Given the description of an element on the screen output the (x, y) to click on. 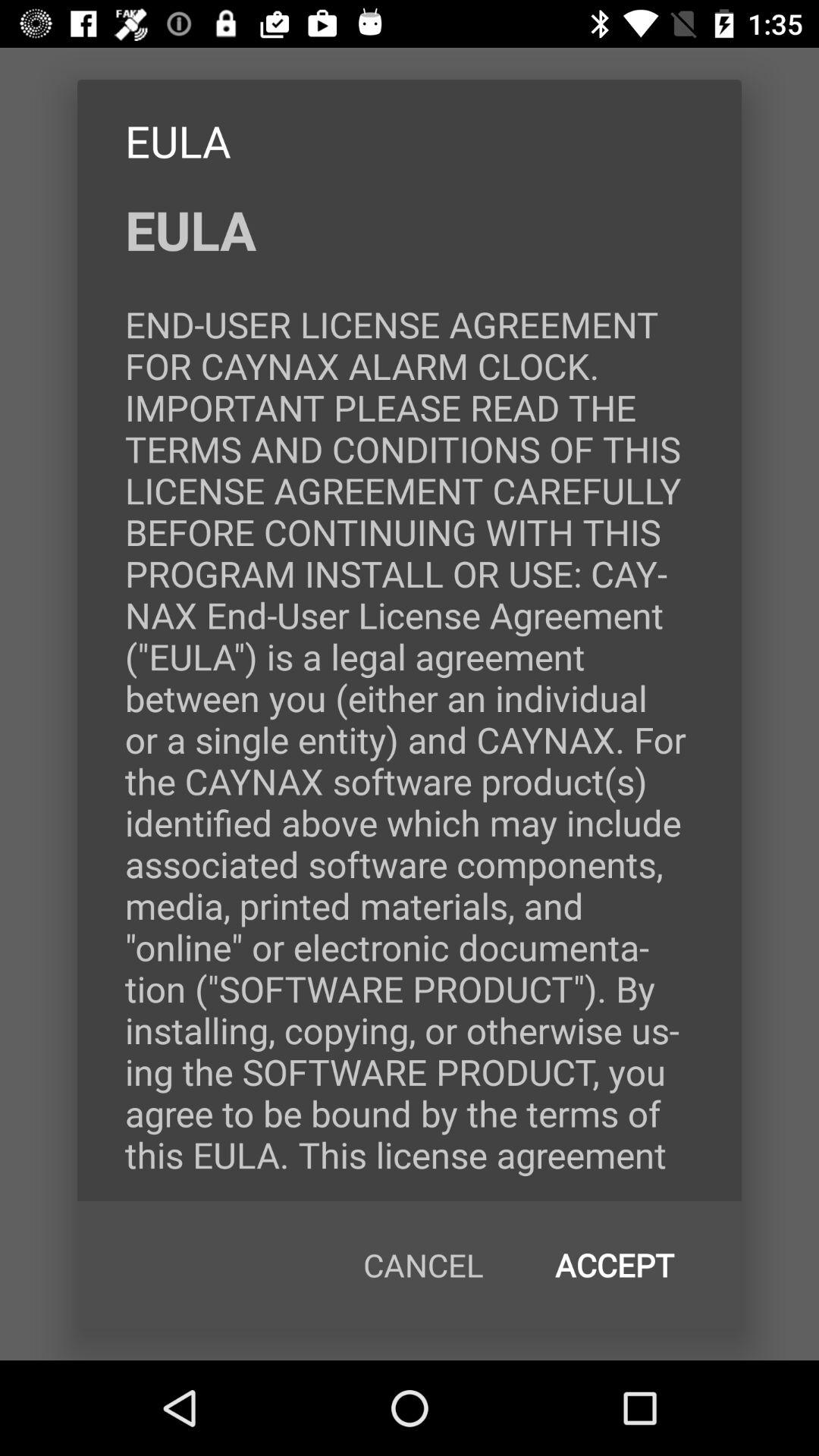
turn off icon to the left of accept icon (422, 1264)
